Given the description of an element on the screen output the (x, y) to click on. 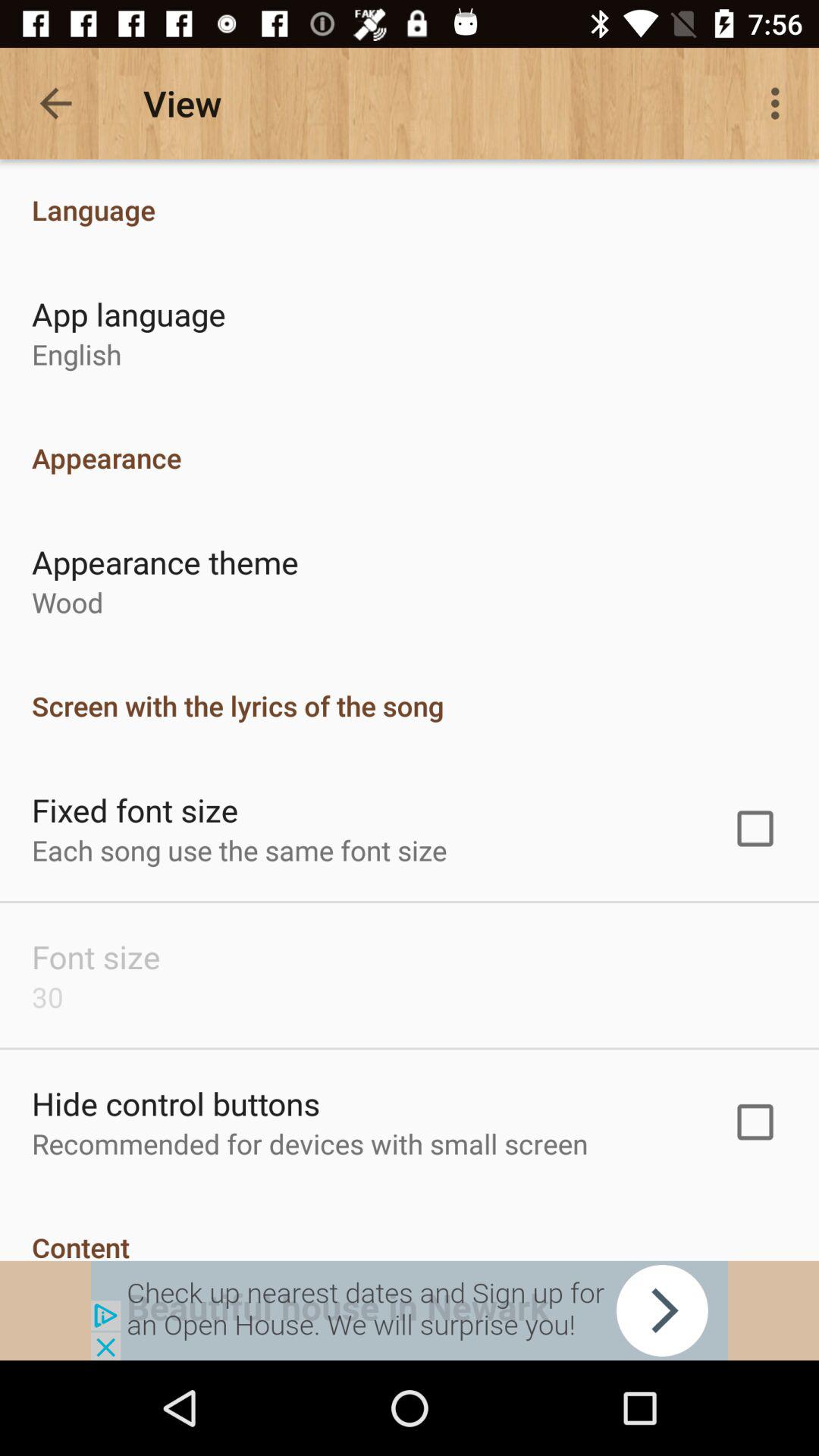
go to next step to click this option (409, 1310)
